Given the description of an element on the screen output the (x, y) to click on. 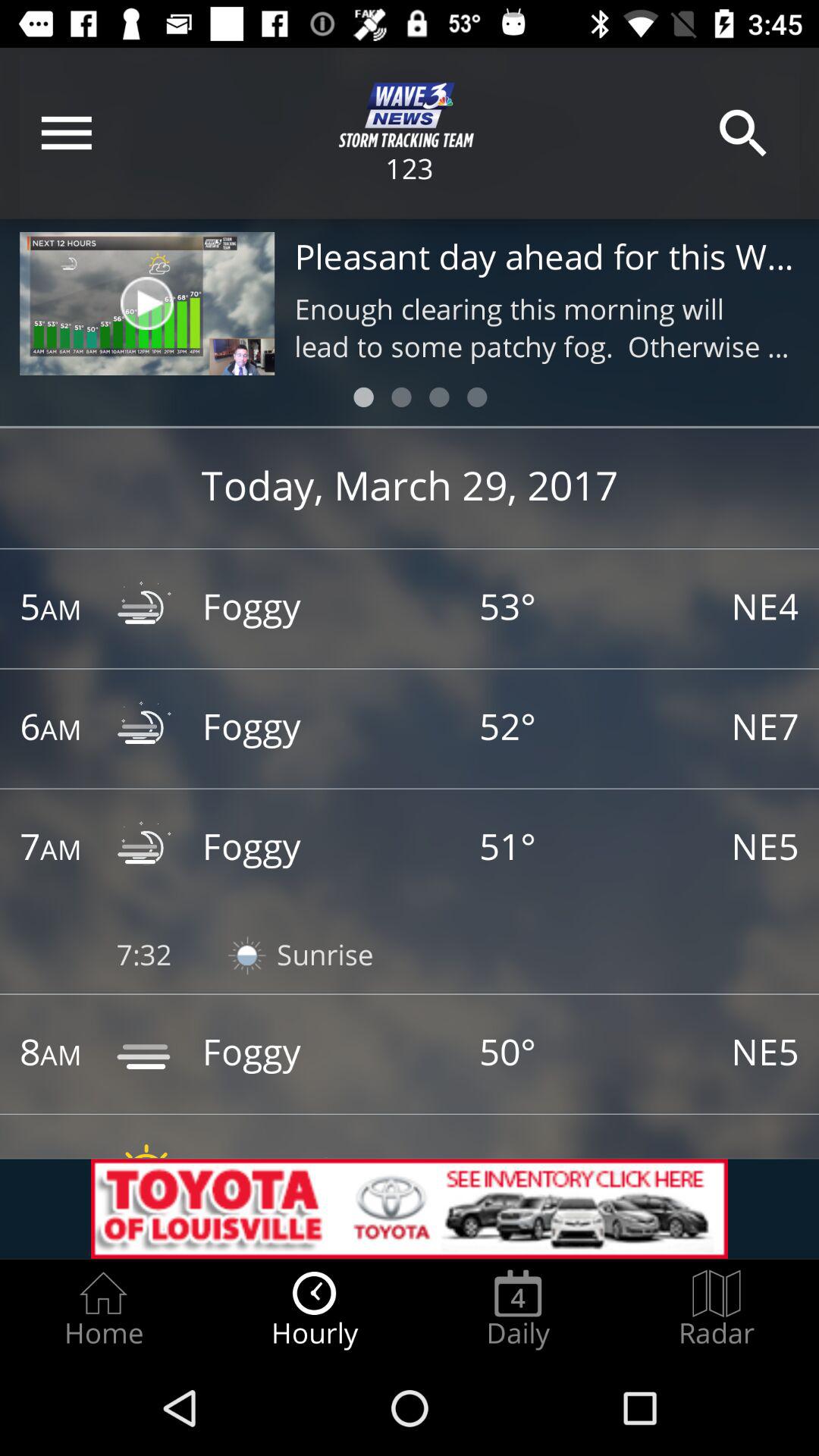
turn on the icon next to the radar radio button (518, 1309)
